Given the description of an element on the screen output the (x, y) to click on. 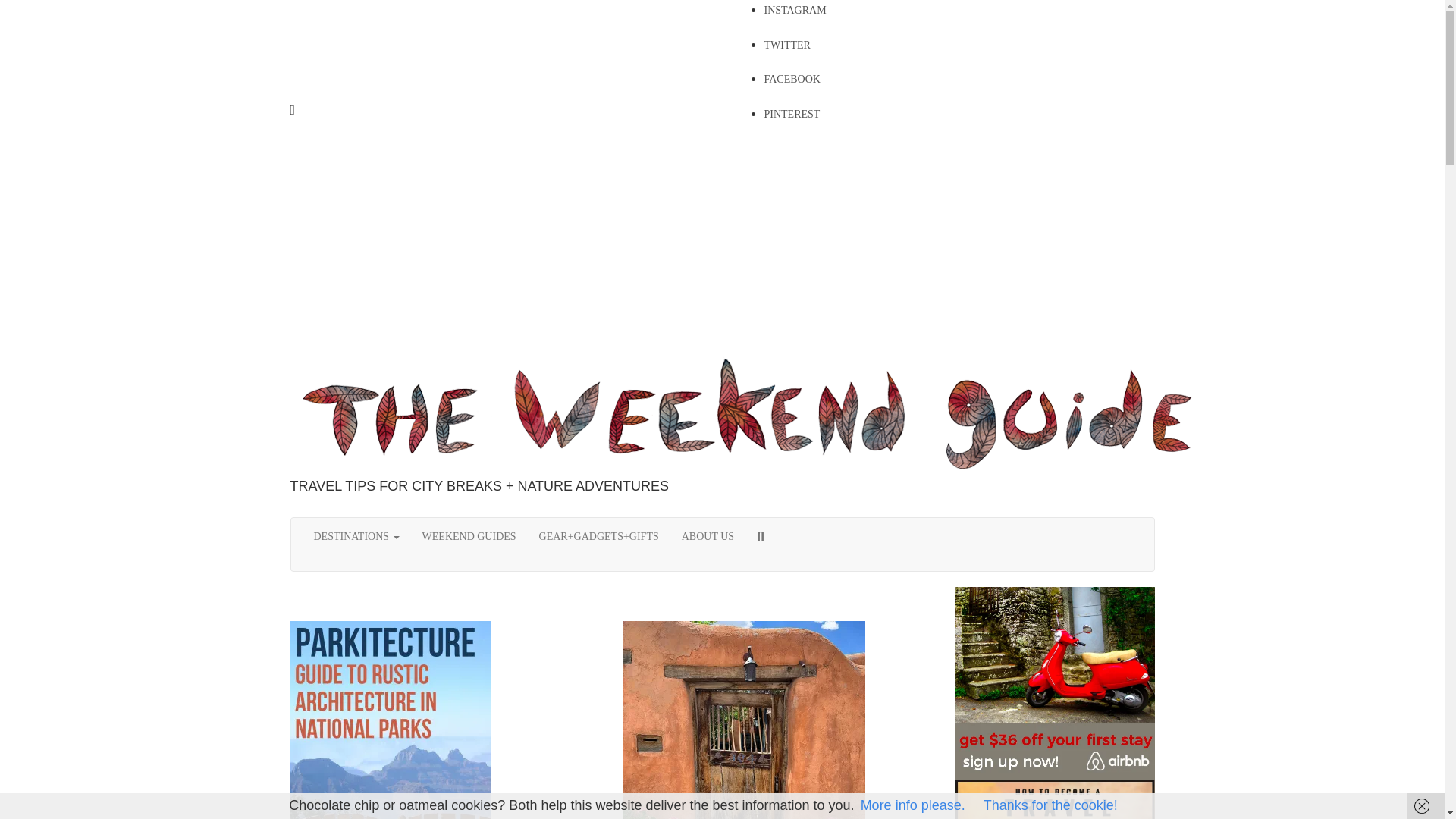
TWITTER (787, 44)
DESTINATIONS (355, 536)
INSTAGRAM (795, 9)
ABOUT US (707, 536)
WEEKEND GUIDES (468, 536)
FACEBOOK (792, 79)
PINTEREST (792, 113)
